Given the description of an element on the screen output the (x, y) to click on. 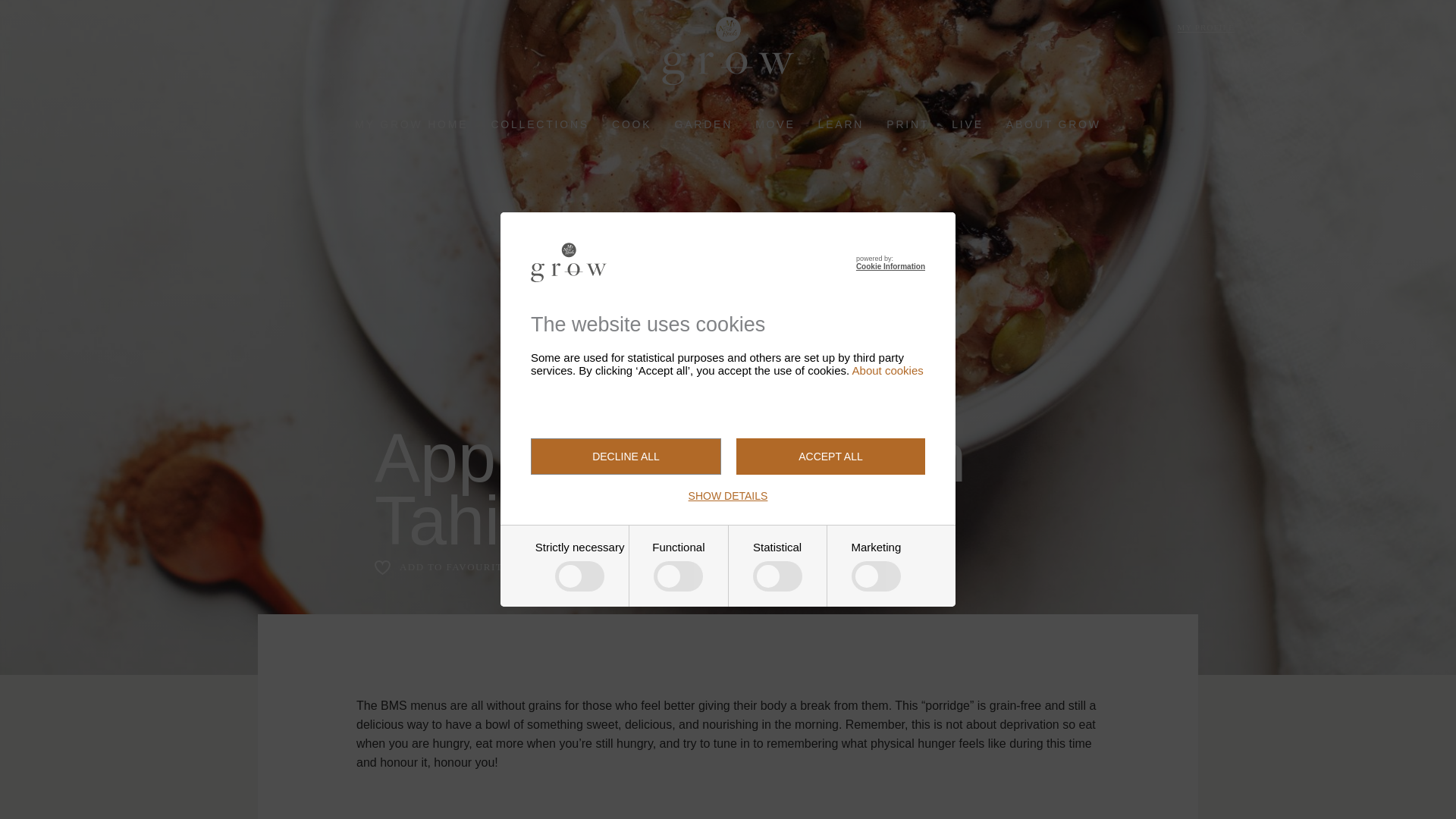
SHOW DETAILS (728, 495)
ACCEPT ALL (830, 456)
Cookie Information (890, 266)
DECLINE ALL (625, 456)
About cookies (887, 369)
